Given the description of an element on the screen output the (x, y) to click on. 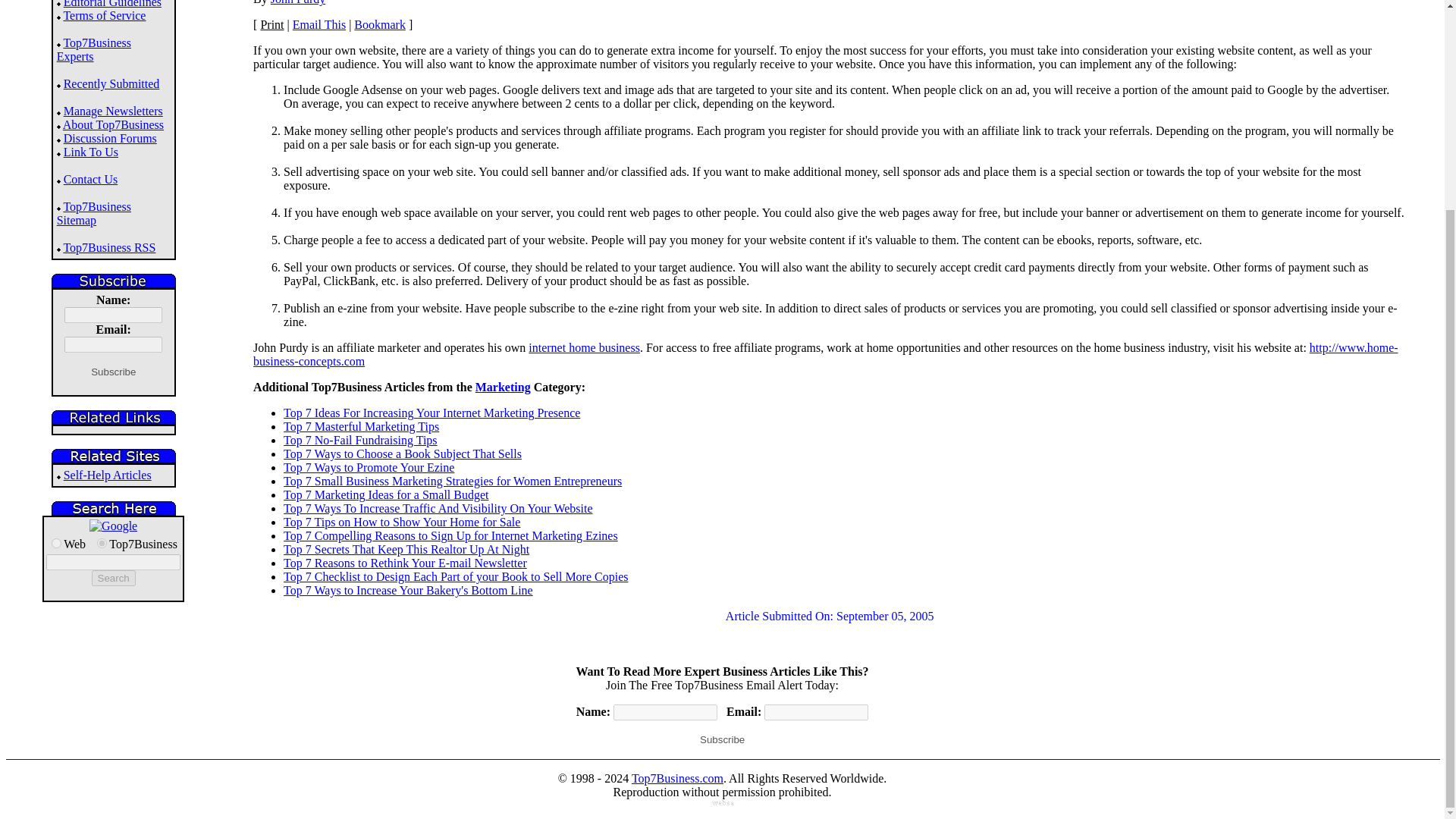
Top 7 Ways to Choose a Book Subject That Sells (402, 453)
Top7Business.com (677, 778)
Discussion Forums (110, 137)
Contact Us (90, 178)
Subscribe (722, 739)
Marketing (503, 386)
internet home business (584, 347)
Top 7 Ways to Promote Your Ezine (368, 467)
Top7Business.com (101, 542)
Top 7 Ways to Increase Your Bakery's Bottom Line (407, 590)
Recently Submitted (112, 83)
Top 7 Marketing Ideas for a Small Budget (385, 494)
Top 7 Masterful Marketing Tips (361, 426)
Self-Help Articles (107, 474)
